Given the description of an element on the screen output the (x, y) to click on. 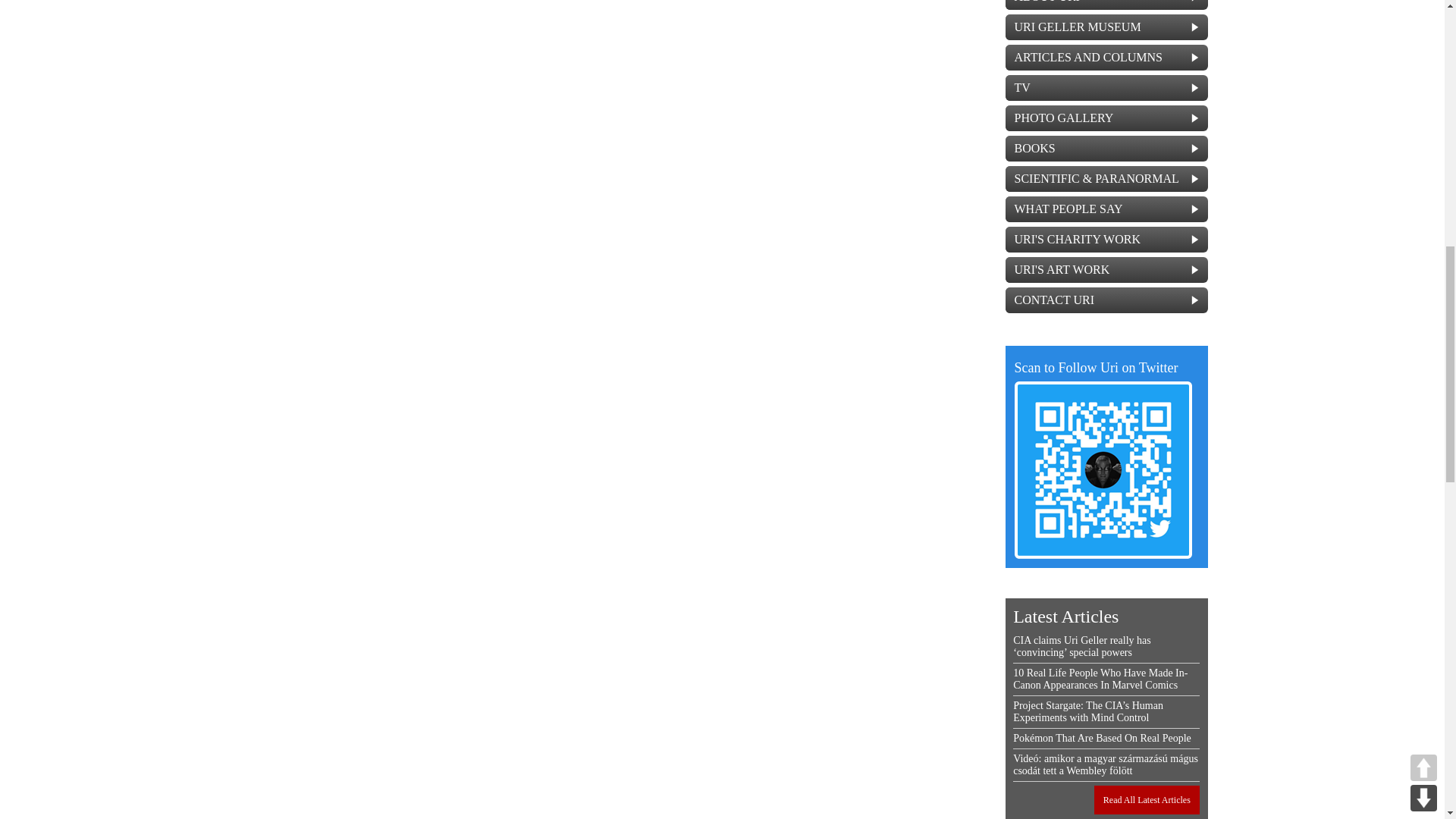
URI'S CHARITY WORK (1107, 239)
URI'S ART WORK (1107, 269)
ARTICLES AND COLUMNS (1107, 57)
Read All Latest Articles (1146, 799)
PHOTO GALLERY (1107, 118)
WHAT PEOPLE SAY (1107, 208)
TV (1107, 87)
CONTACT URI (1107, 299)
URI GELLER MUSEUM (1107, 27)
BOOKS (1107, 148)
ABOUT URI (1107, 4)
